Given the description of an element on the screen output the (x, y) to click on. 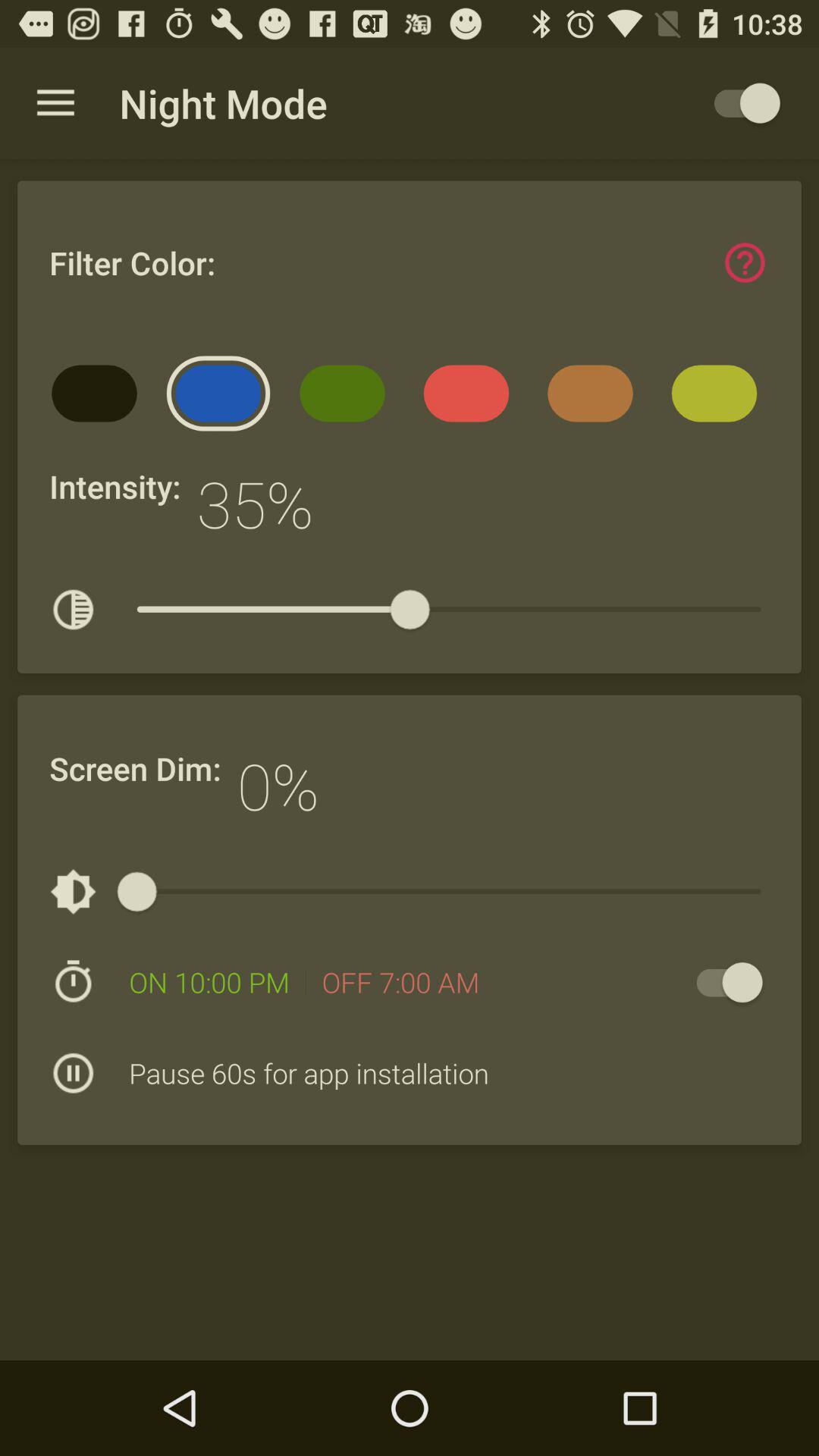
select the item above the intensity: (99, 398)
